Given the description of an element on the screen output the (x, y) to click on. 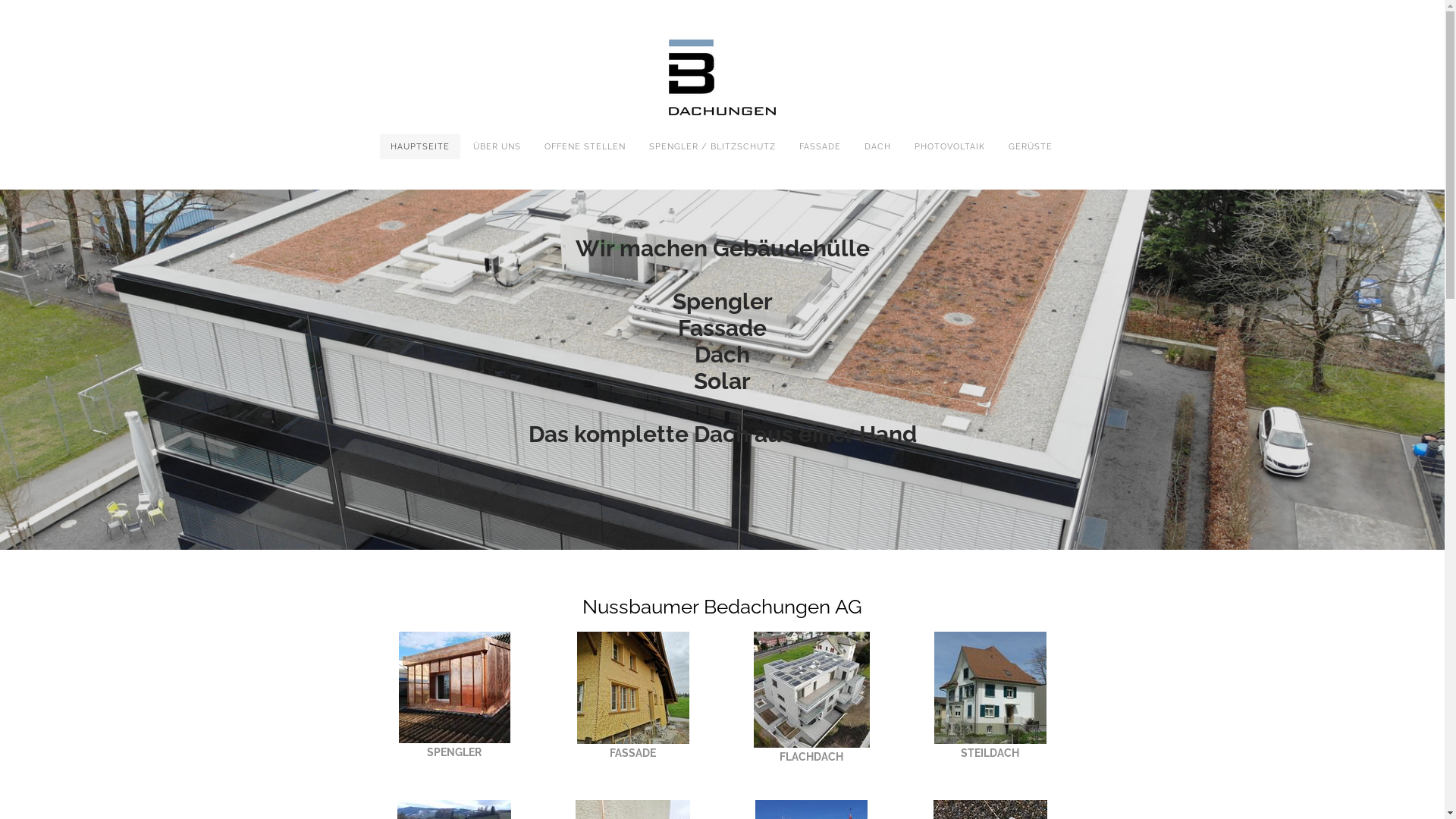
PHOTOVOLTAIK Element type: text (949, 146)
OFFENE STELLEN Element type: text (584, 146)
DACH Element type: text (877, 146)
HAUPTSEITE Element type: text (419, 146)
SPENGLER / BLITZSCHUTZ Element type: text (712, 146)
FASSADE Element type: text (819, 146)
